Given the description of an element on the screen output the (x, y) to click on. 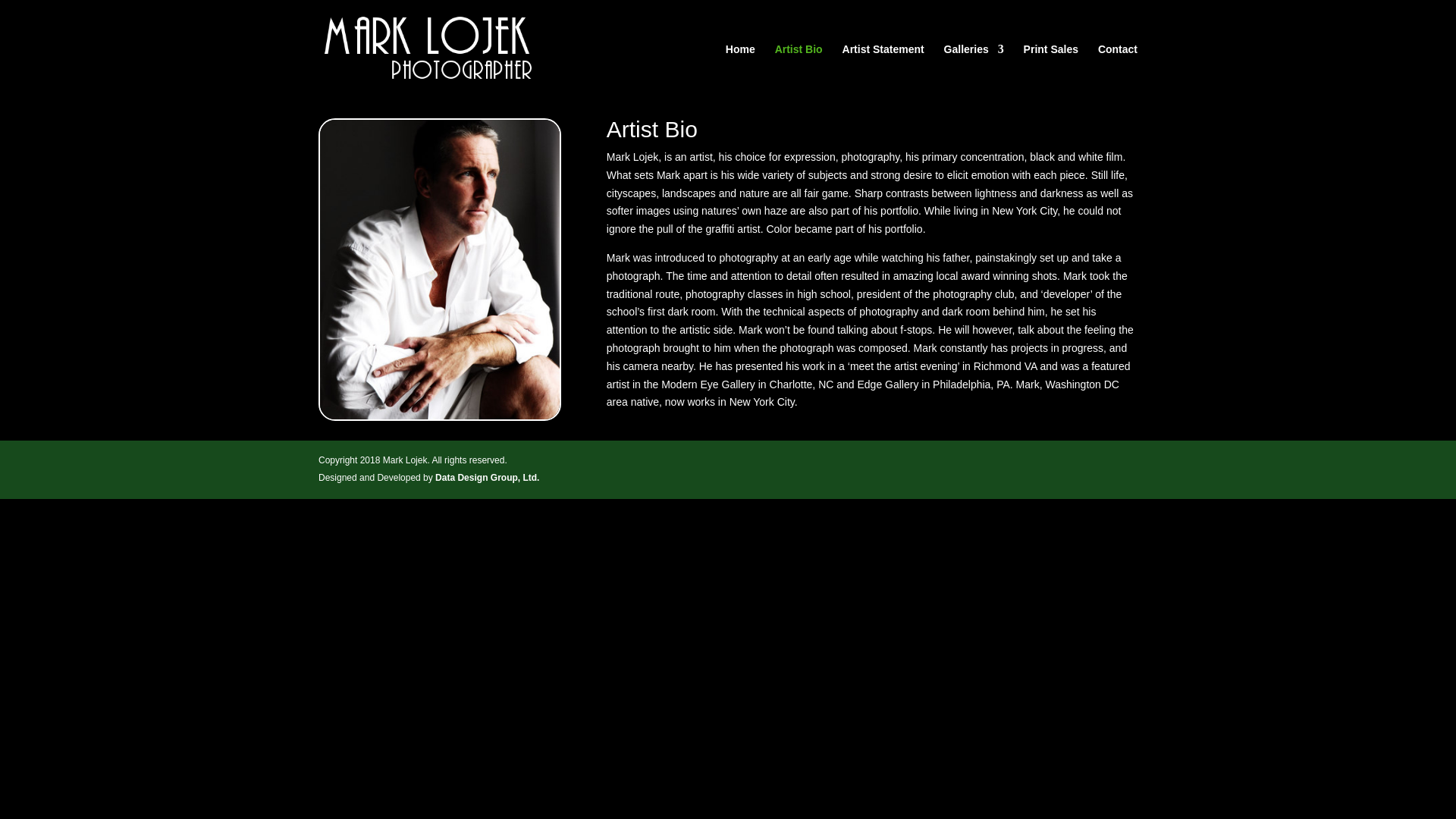
Print Sales (1050, 71)
Galleries (973, 71)
Data Design Group, Ltd. (486, 477)
Artist Statement (883, 71)
